Given the description of an element on the screen output the (x, y) to click on. 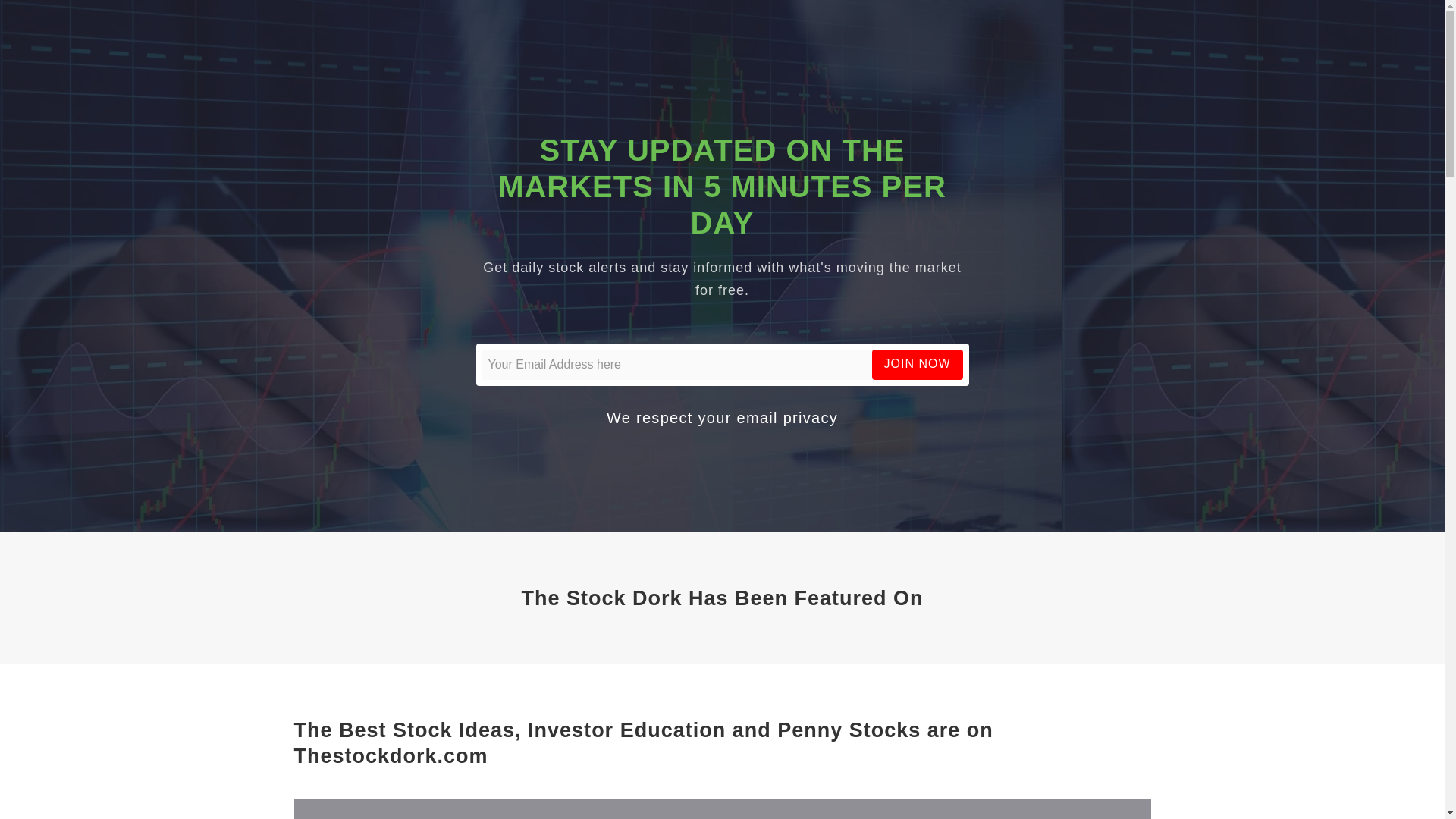
Join Now (917, 363)
Privacy Policy (787, 417)
email privacy (787, 417)
Join Now (917, 363)
